Given the description of an element on the screen output the (x, y) to click on. 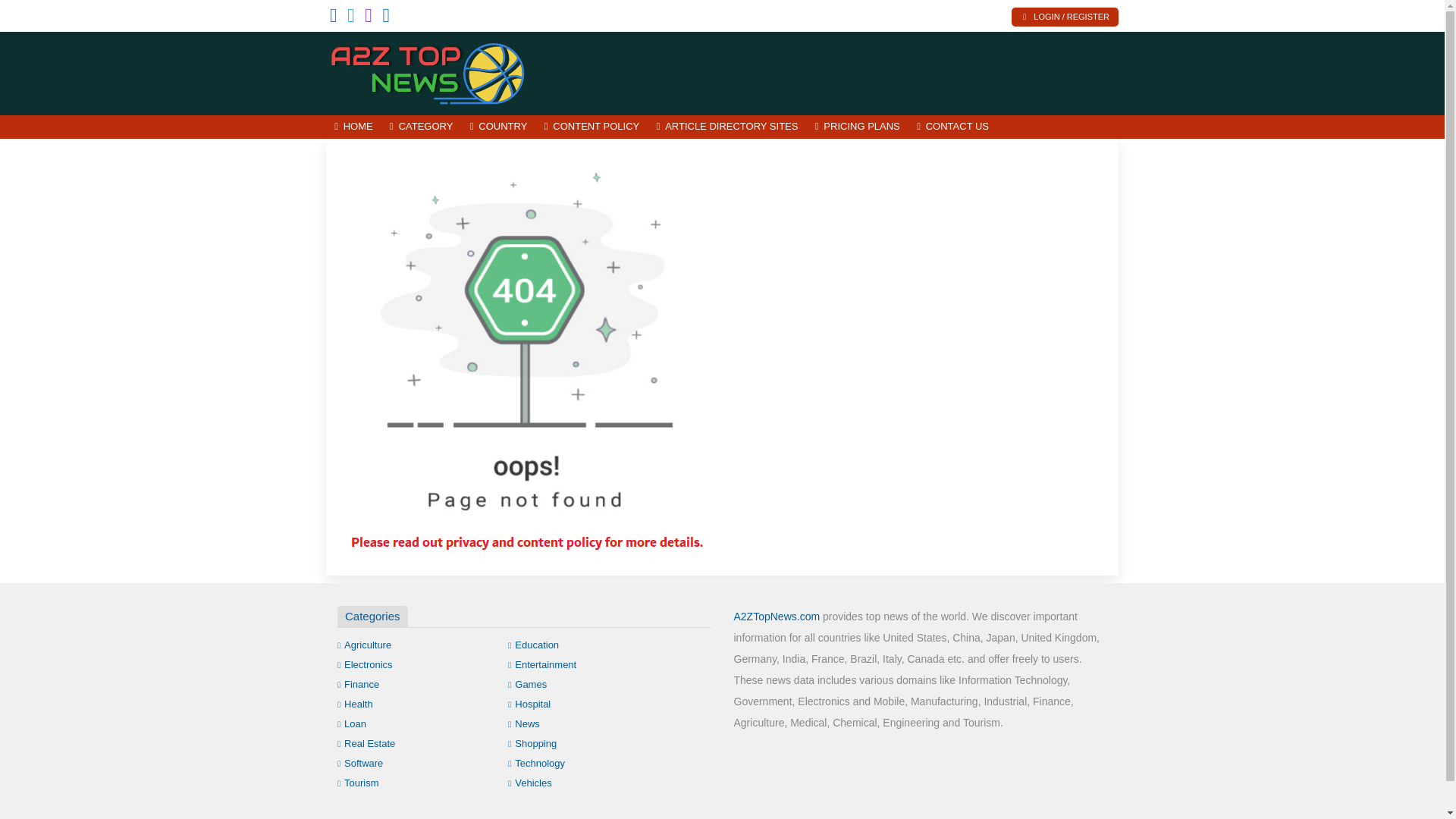
ARTICLE DIRECTORY SITES (726, 126)
Games (527, 684)
COUNTRY (498, 126)
CONTENT POLICY (591, 126)
Tourism (357, 782)
CATEGORY (421, 126)
Health (354, 704)
Shopping (532, 743)
Agriculture (364, 644)
Electronics (365, 664)
Hospital (529, 704)
Discover Top Data of The World and Global News Research (428, 71)
Finance (357, 684)
HOME (353, 126)
CONTACT US (952, 126)
